Given the description of an element on the screen output the (x, y) to click on. 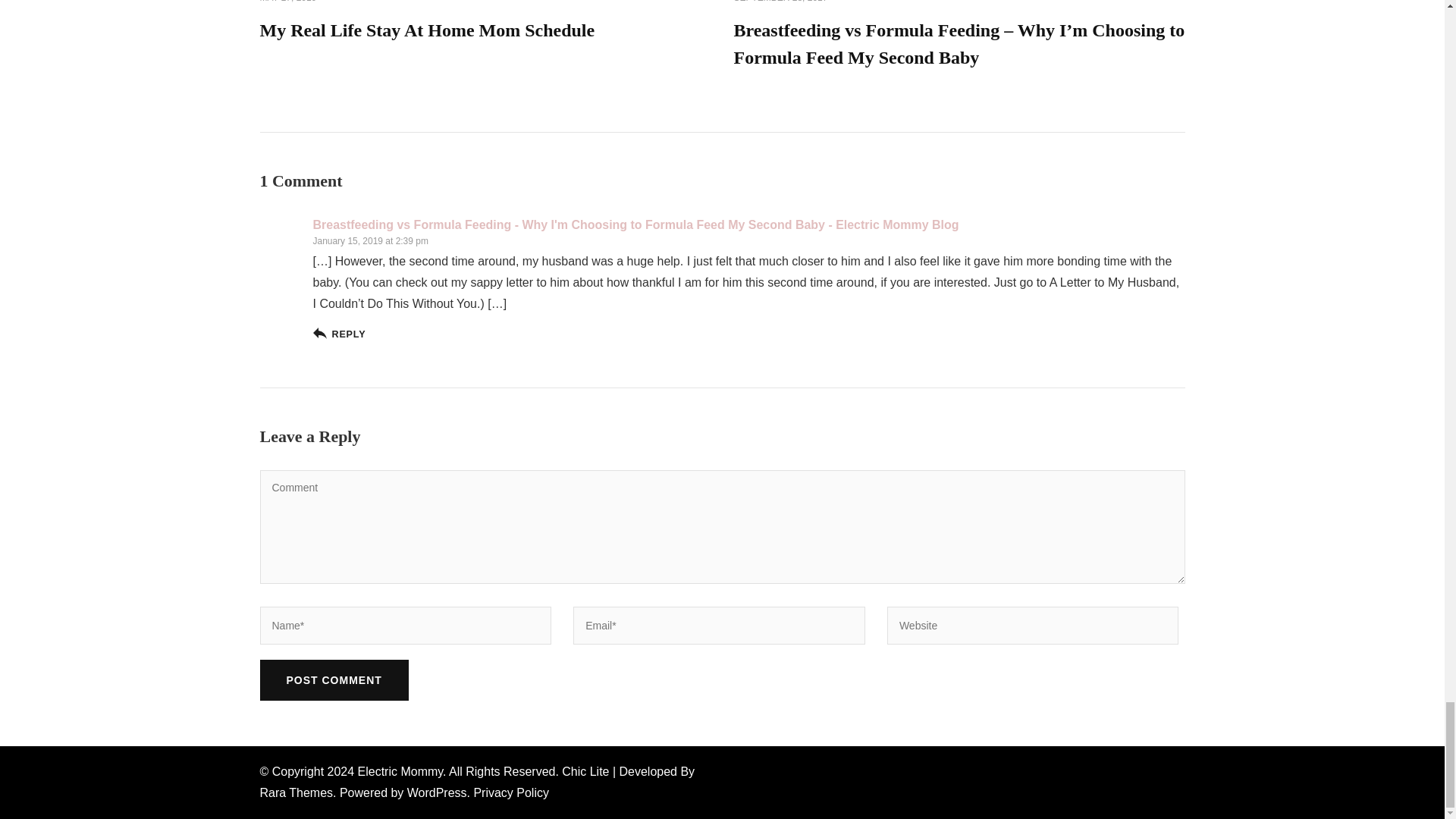
Post Comment (333, 680)
